Given the description of an element on the screen output the (x, y) to click on. 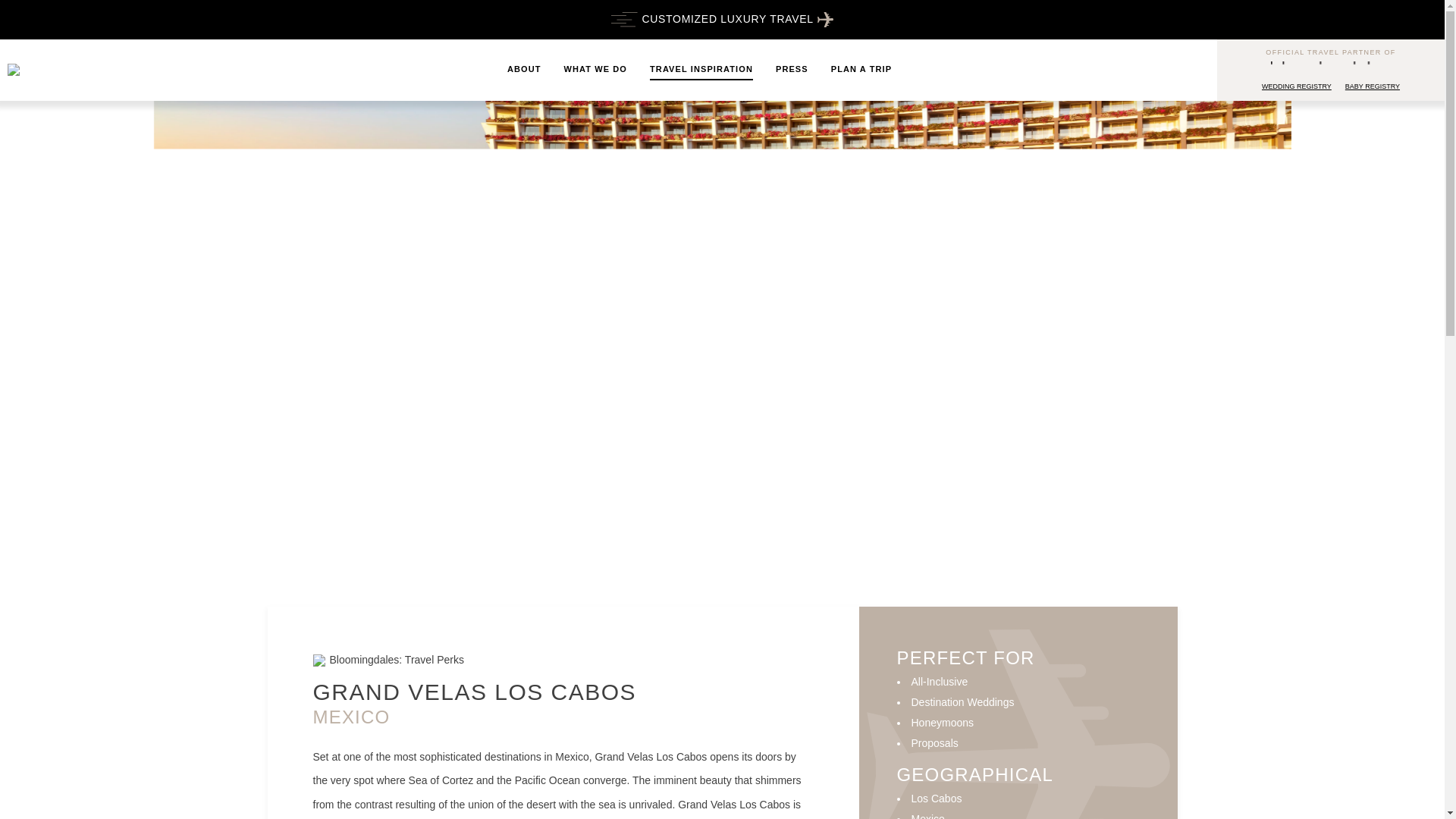
WHAT WE DO (595, 69)
TRAVEL INSPIRATION (700, 69)
PLAN A TRIP (861, 69)
WEDDING REGISTRY (1297, 86)
Destination Weddings (962, 702)
BABY REGISTRY (1372, 86)
Honeymoons (942, 722)
PRESS (792, 69)
ABOUT (523, 69)
Proposals (934, 743)
